Given the description of an element on the screen output the (x, y) to click on. 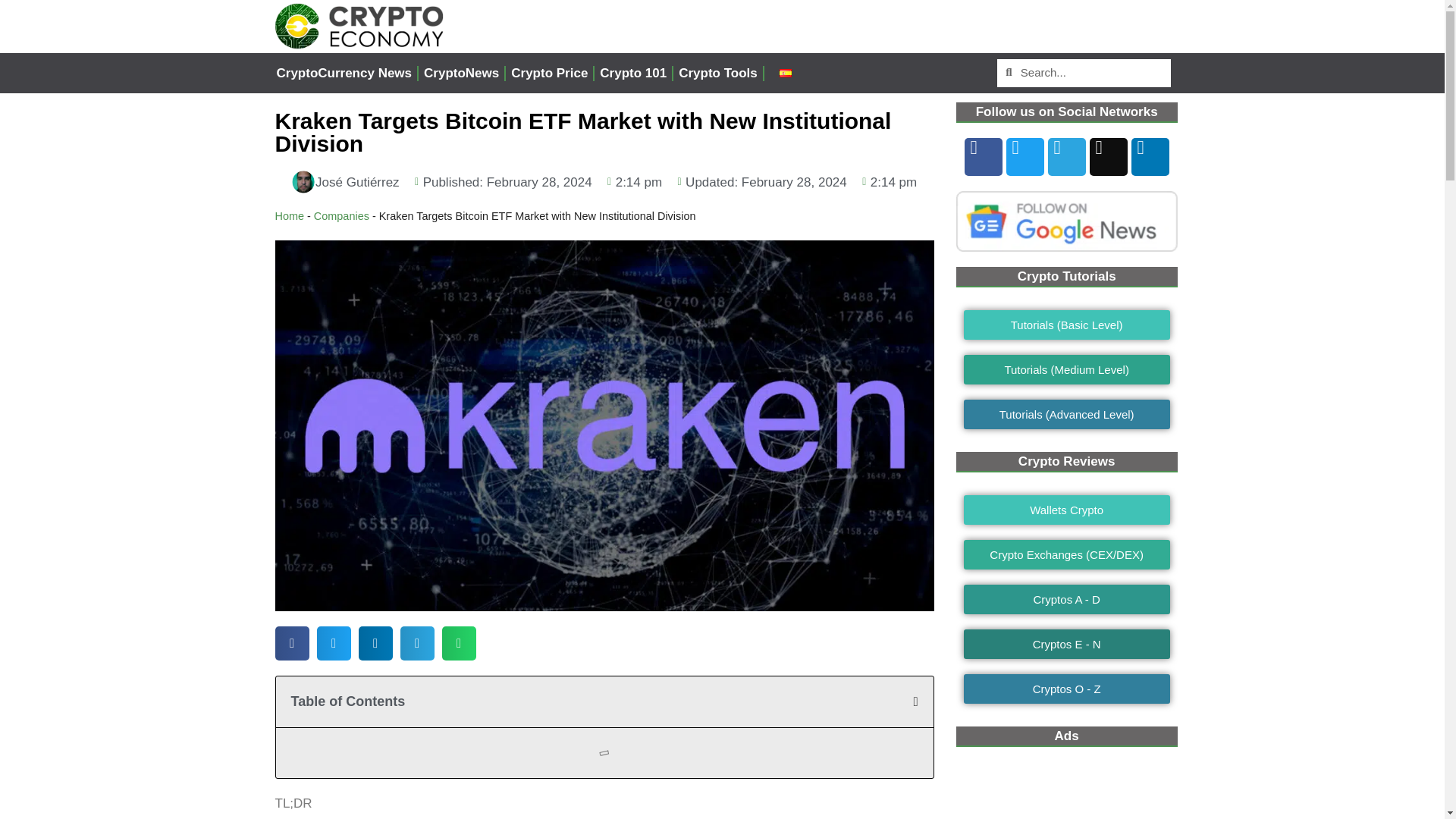
CryptoCurrency News (343, 72)
CryptoNews (461, 72)
Crypto Price (548, 72)
Crypto 101 (632, 72)
